Given the description of an element on the screen output the (x, y) to click on. 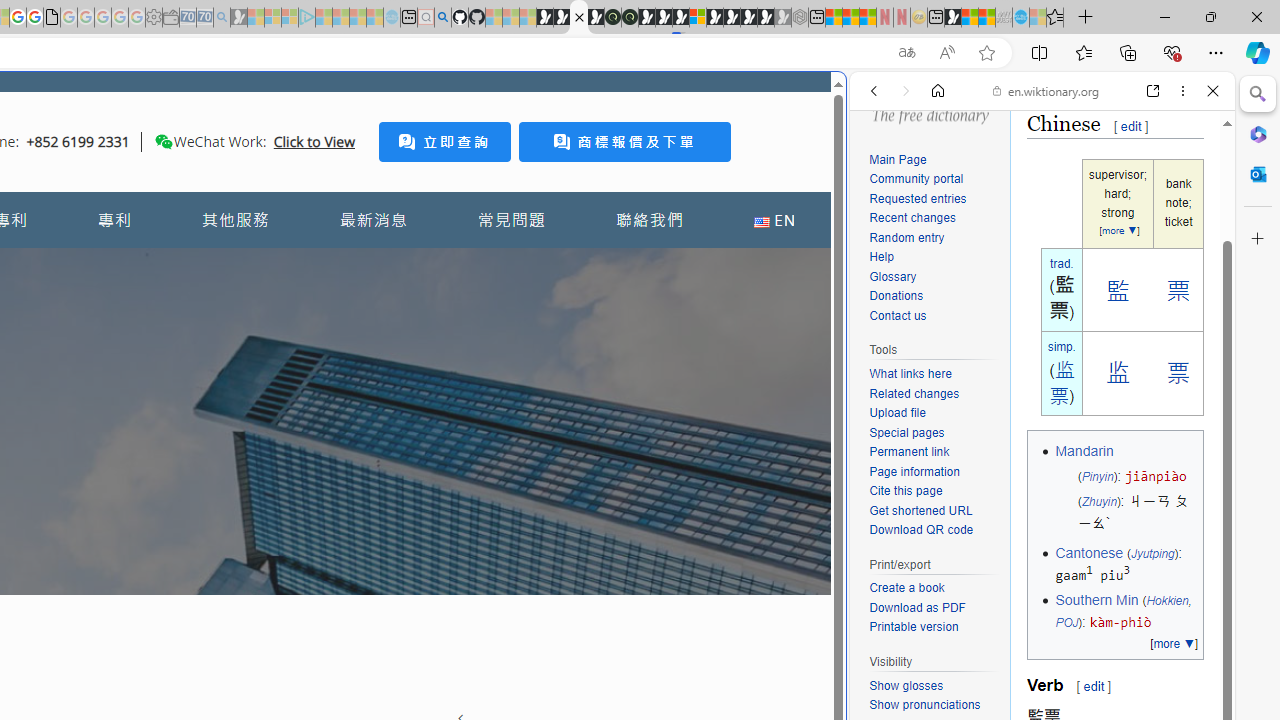
Pinyin (1097, 476)
Cite this page (934, 491)
Play Free Online Games | Games from Microsoft Start (731, 17)
Get shortened URL (920, 510)
Permanent link (909, 452)
Southern Min (1096, 600)
